Given the description of an element on the screen output the (x, y) to click on. 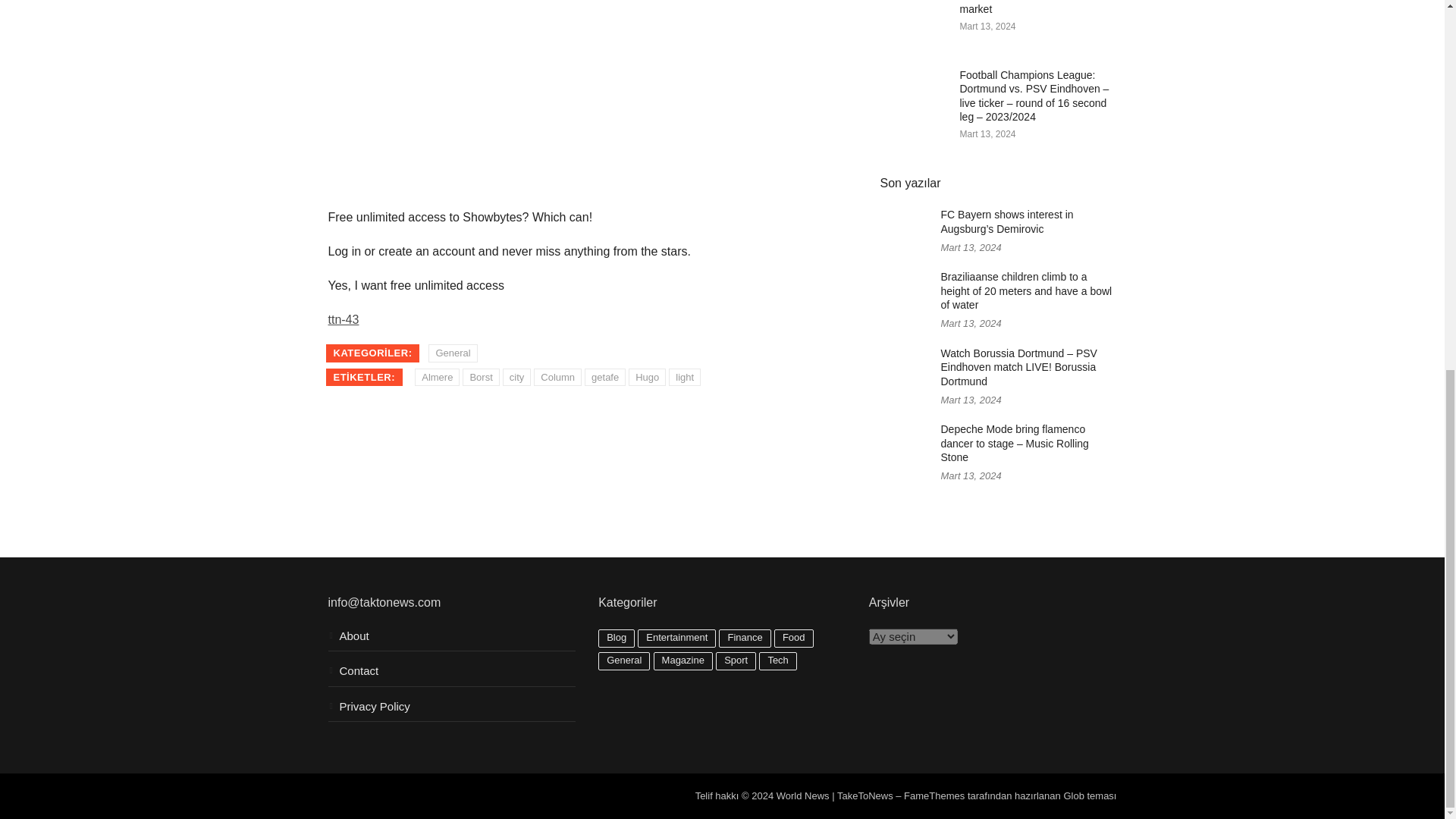
Borst (481, 377)
getafe (605, 377)
Column (557, 377)
light (684, 377)
Almere (437, 377)
ttn-43 (342, 318)
General (452, 352)
city (516, 377)
Hugo (646, 377)
